Given the description of an element on the screen output the (x, y) to click on. 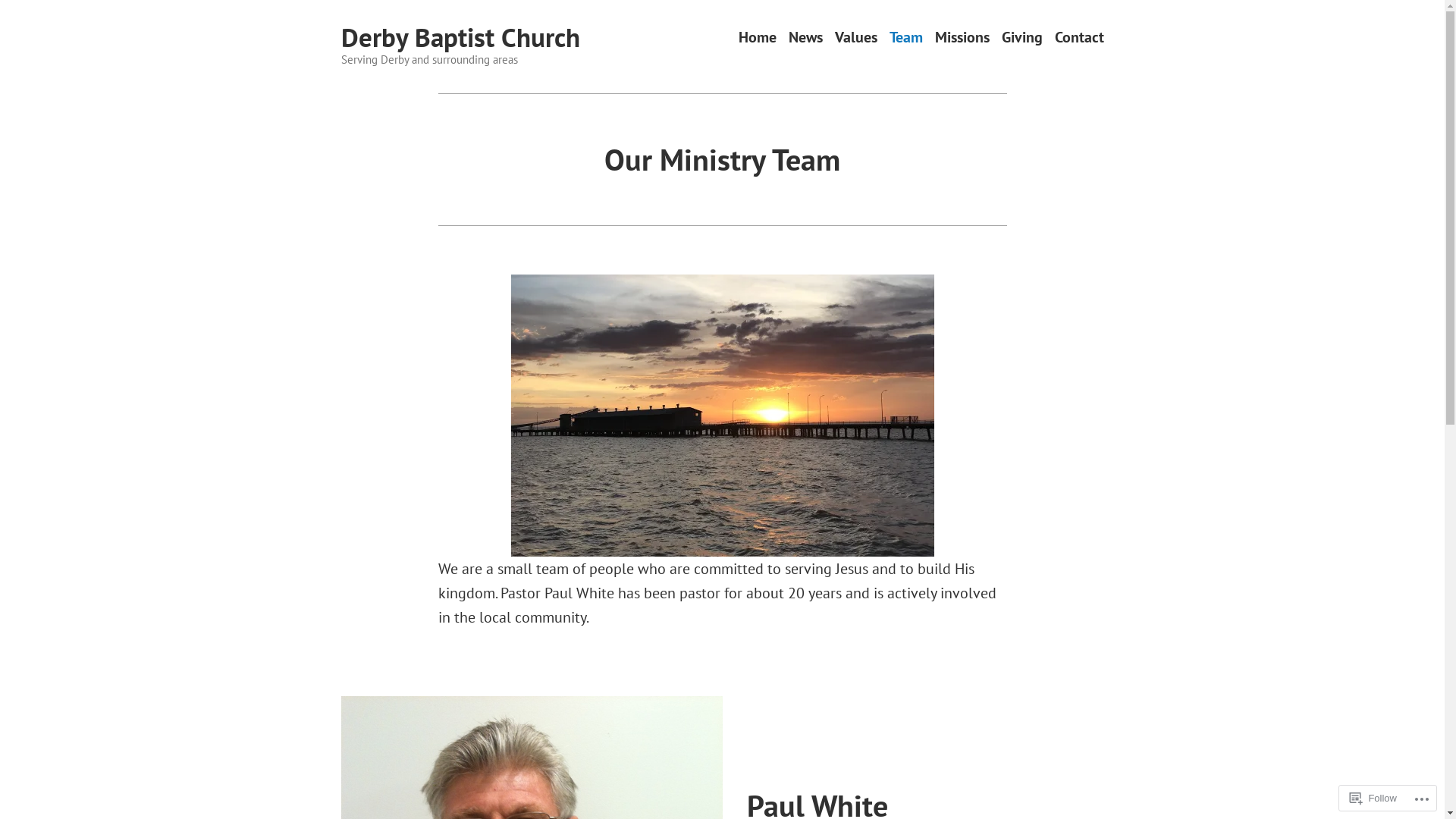
Values Element type: text (855, 37)
News Element type: text (805, 37)
Contact Element type: text (1078, 37)
Team Element type: text (905, 37)
Missions Element type: text (961, 37)
Giving Element type: text (1021, 37)
Home Element type: text (757, 37)
Follow Element type: text (1372, 797)
Derby Baptist Church Element type: text (460, 36)
